Given the description of an element on the screen output the (x, y) to click on. 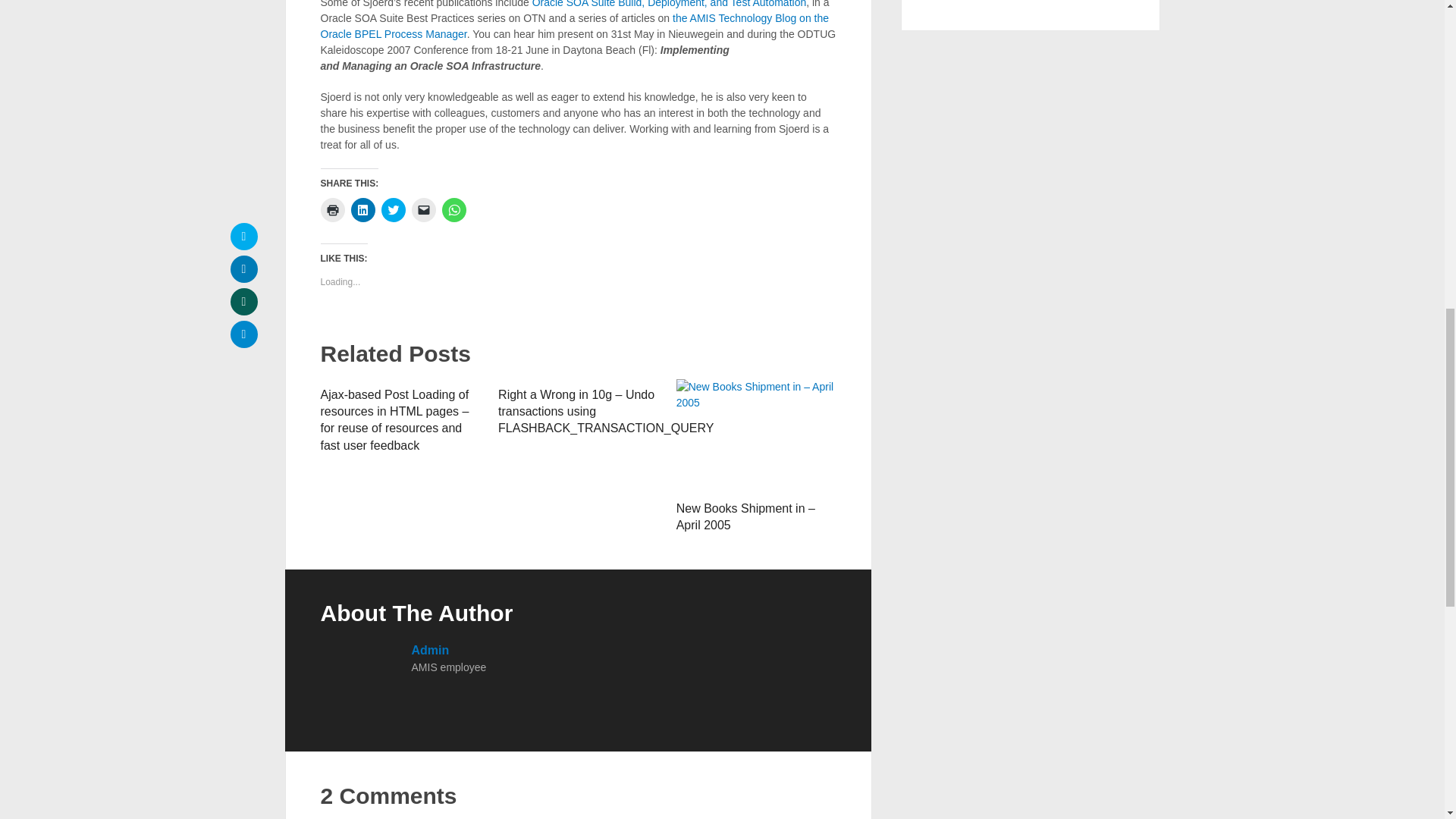
the AMIS Technology Blog on the Oracle BPEL Process Manager (574, 26)
Oracle SOA Suite Build, Deployment, and Test Automation (669, 4)
Click to email a link to a friend (422, 209)
Click to print (331, 209)
Click to share on WhatsApp (453, 209)
Admin (429, 649)
Click to share on Twitter (392, 209)
Click to share on LinkedIn (362, 209)
